Given the description of an element on the screen output the (x, y) to click on. 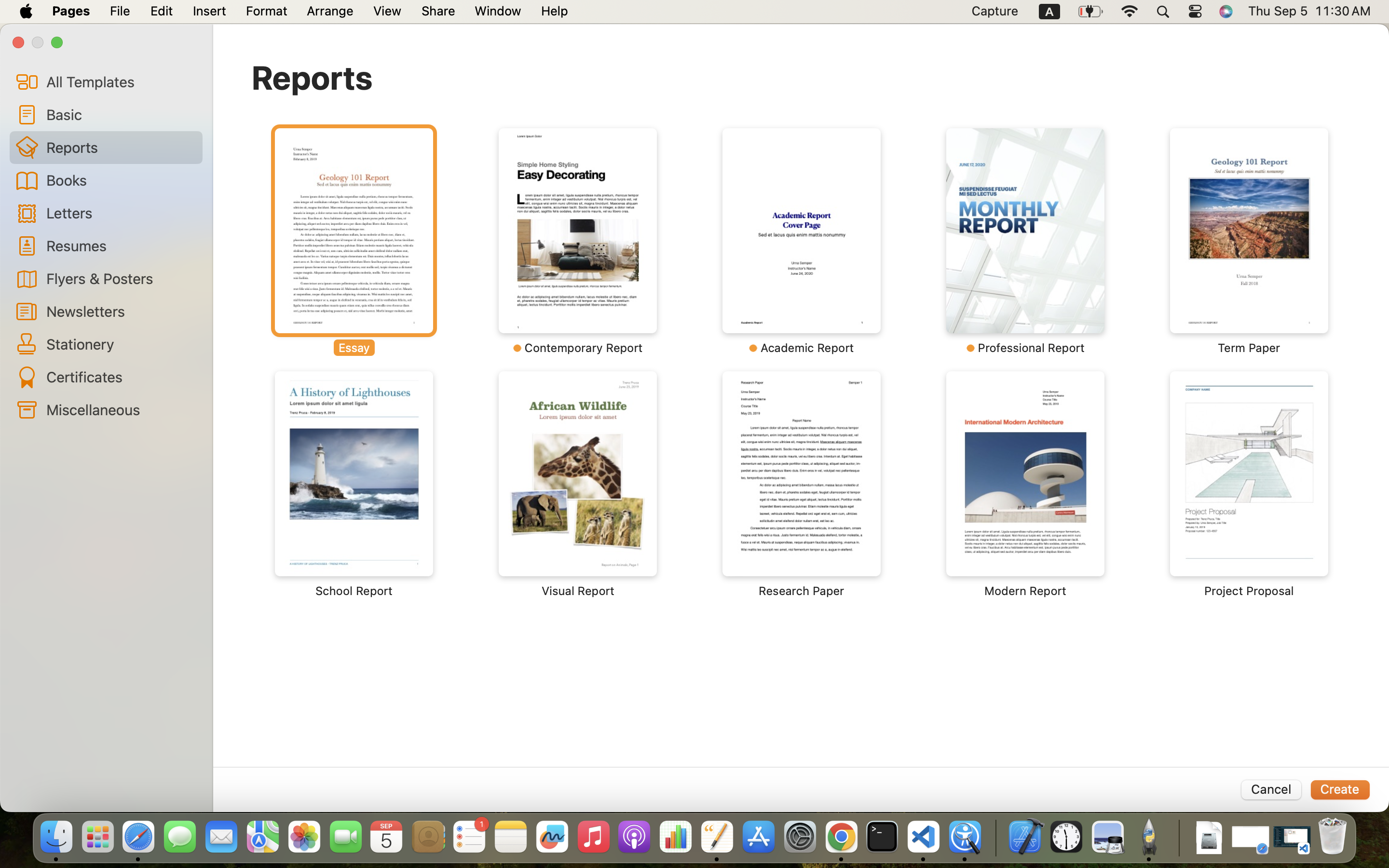
Resumes Element type: AXStaticText (120, 245)
Books Element type: AXStaticText (120, 179)
Certificates Element type: AXStaticText (120, 376)
Miscellaneous Element type: AXStaticText (120, 409)
Newsletters Element type: AXStaticText (120, 310)
